Given the description of an element on the screen output the (x, y) to click on. 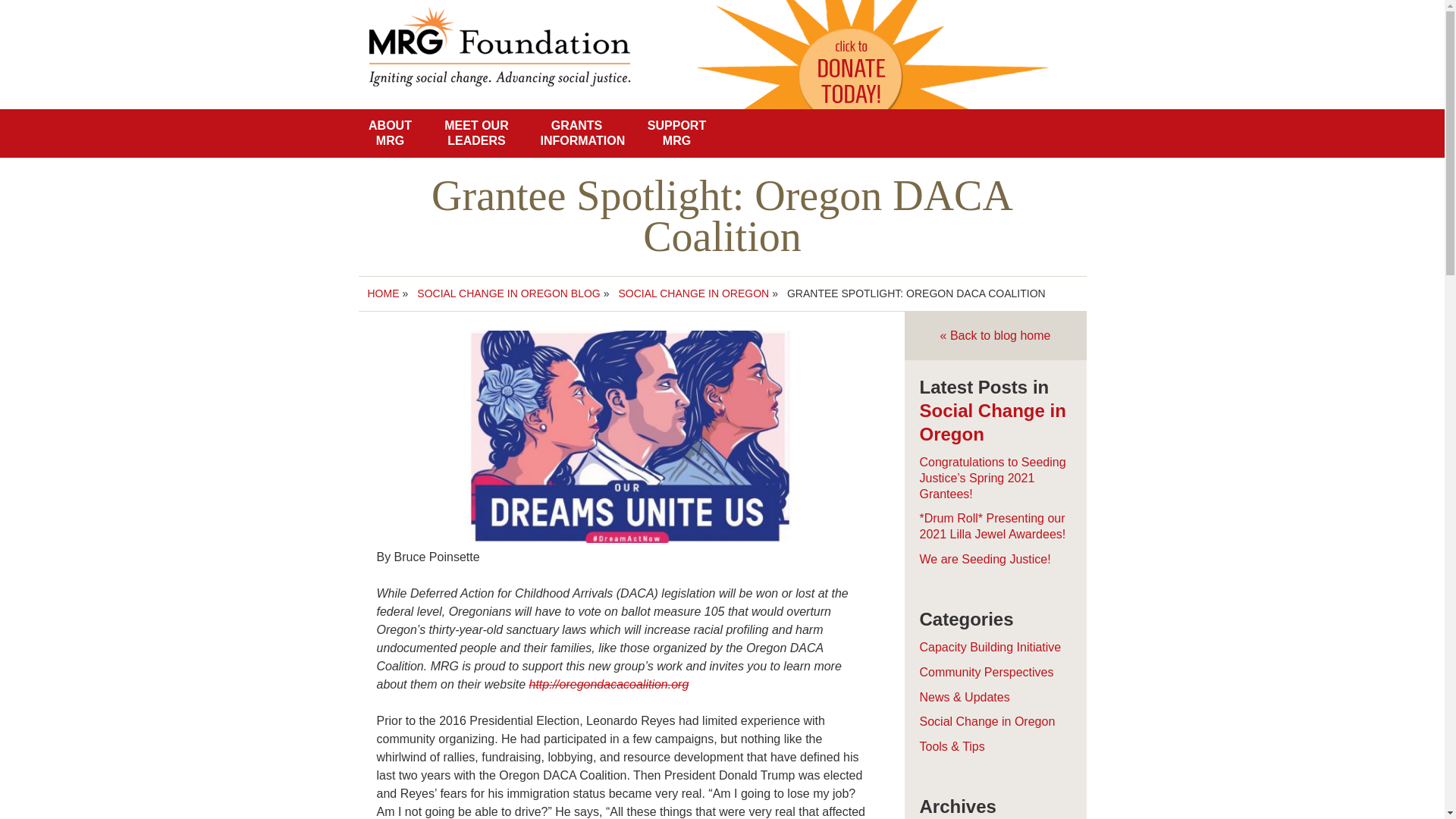
Capacity Building Initiative (989, 646)
Skip to content (8, 117)
Community Perspectives (985, 671)
We are Seeding Justice! (983, 558)
MRG Foundation (519, 26)
SUPPORT MRG (676, 133)
GRANTS INFORMATION (576, 133)
HOME (382, 292)
Go to MRG Foundation. (382, 292)
Social Change in Oregon (991, 422)
MEET OUR LEADERS (475, 133)
SOCIAL CHANGE IN OREGON BLOG (507, 292)
ABOUT MRG (390, 133)
Go to Social Change in Oregon Blog. (507, 292)
Go to the Social Change in Oregon category archives. (694, 292)
